Given the description of an element on the screen output the (x, y) to click on. 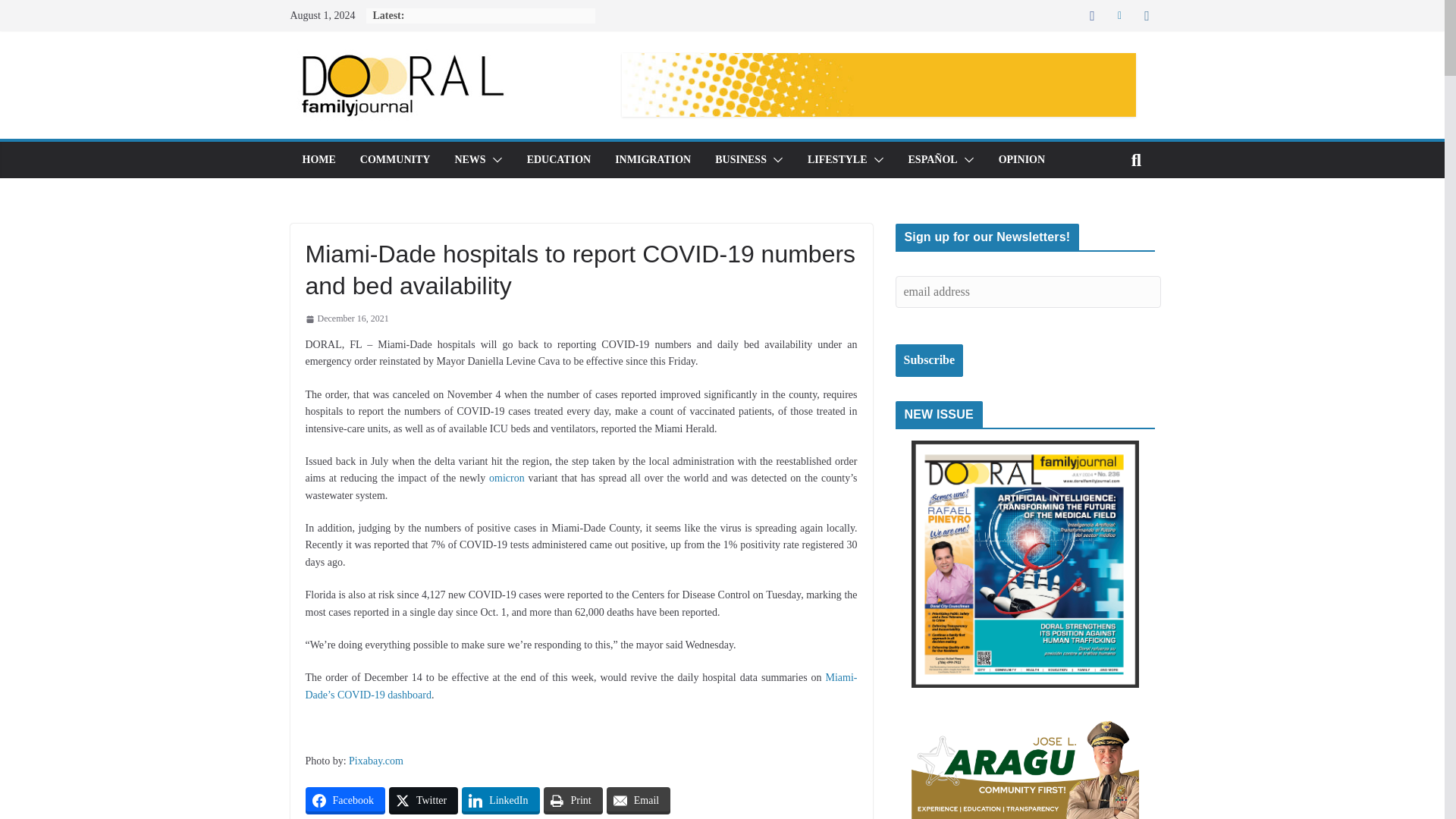
Subscribe (928, 359)
Share on Email (638, 800)
Share on Print (572, 800)
Share on Facebook (344, 800)
HOME (317, 159)
NEWS (469, 159)
COMMUNITY (394, 159)
1:21 pm (346, 319)
INMIGRATION (652, 159)
Share on Twitter (423, 800)
Share on LinkedIn (499, 800)
LIFESTYLE (837, 159)
EDUCATION (559, 159)
BUSINESS (740, 159)
